Given the description of an element on the screen output the (x, y) to click on. 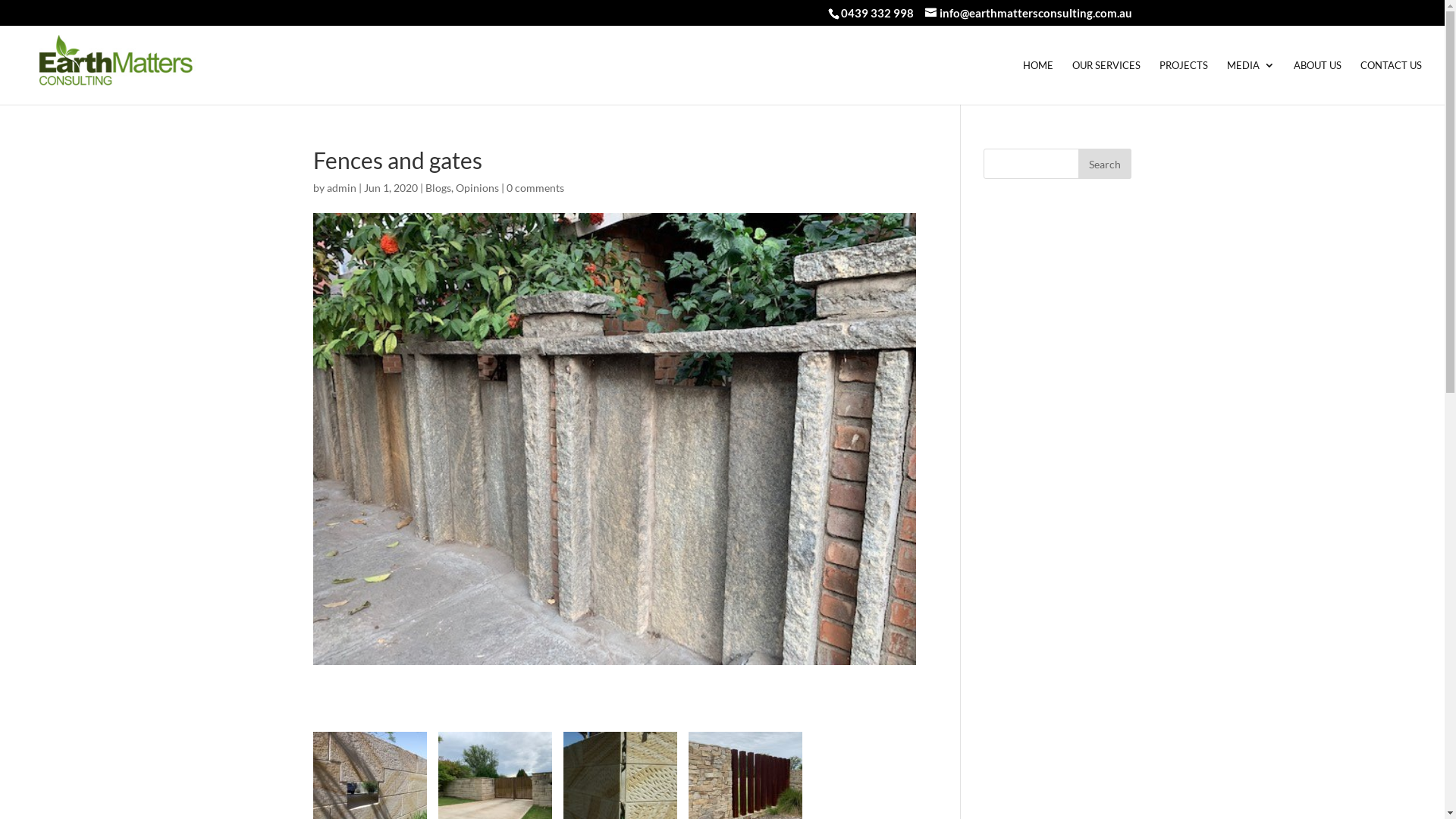
0 comments Element type: text (535, 187)
PROJECTS Element type: text (1183, 81)
MEDIA Element type: text (1250, 81)
CONTACT US Element type: text (1390, 81)
Blogs Element type: text (437, 187)
Search Element type: text (1104, 163)
info@earthmattersconsulting.com.au Element type: text (1028, 12)
Opinions Element type: text (476, 187)
HOME Element type: text (1037, 81)
OUR SERVICES Element type: text (1106, 81)
ABOUT US Element type: text (1317, 81)
admin Element type: text (340, 187)
